Given the description of an element on the screen output the (x, y) to click on. 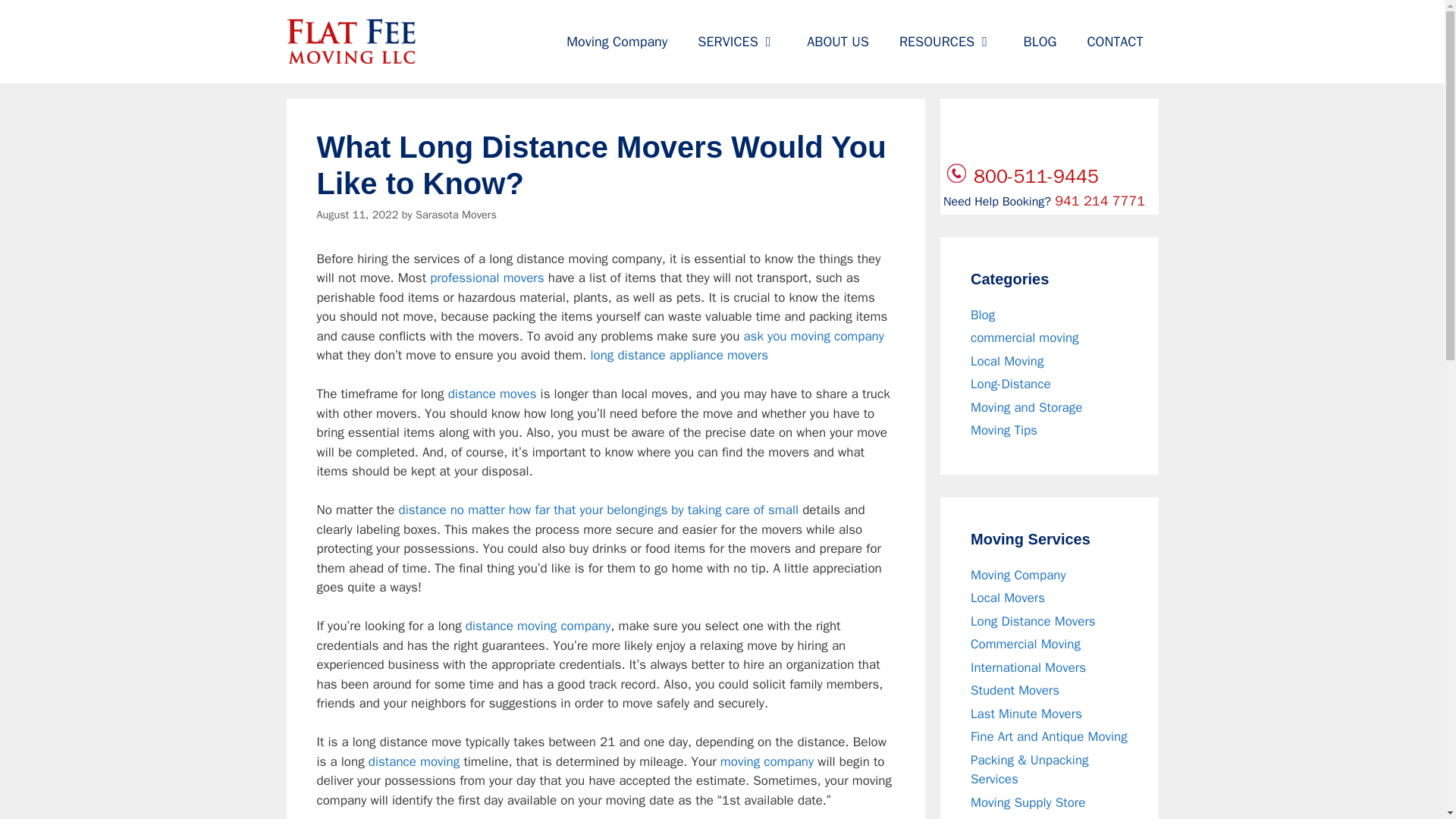
SERVICES (737, 41)
CONTACT (1114, 41)
distance moving (414, 761)
Small Furniture Long Distance Moving Company (492, 393)
What is Long Distance Moving? (414, 761)
distance moving company (538, 625)
ask you moving company (812, 335)
Questions to Ask Long Distance Moving Companies (812, 335)
Small Large Load Long Distance Movers (597, 509)
BLOG (1040, 41)
Long Distance Senior Moving Companies (538, 625)
long distance appliance movers (678, 355)
Small Long Distance Moving Company (766, 761)
How to Find Professional Movers Cross Country (486, 277)
